Given the description of an element on the screen output the (x, y) to click on. 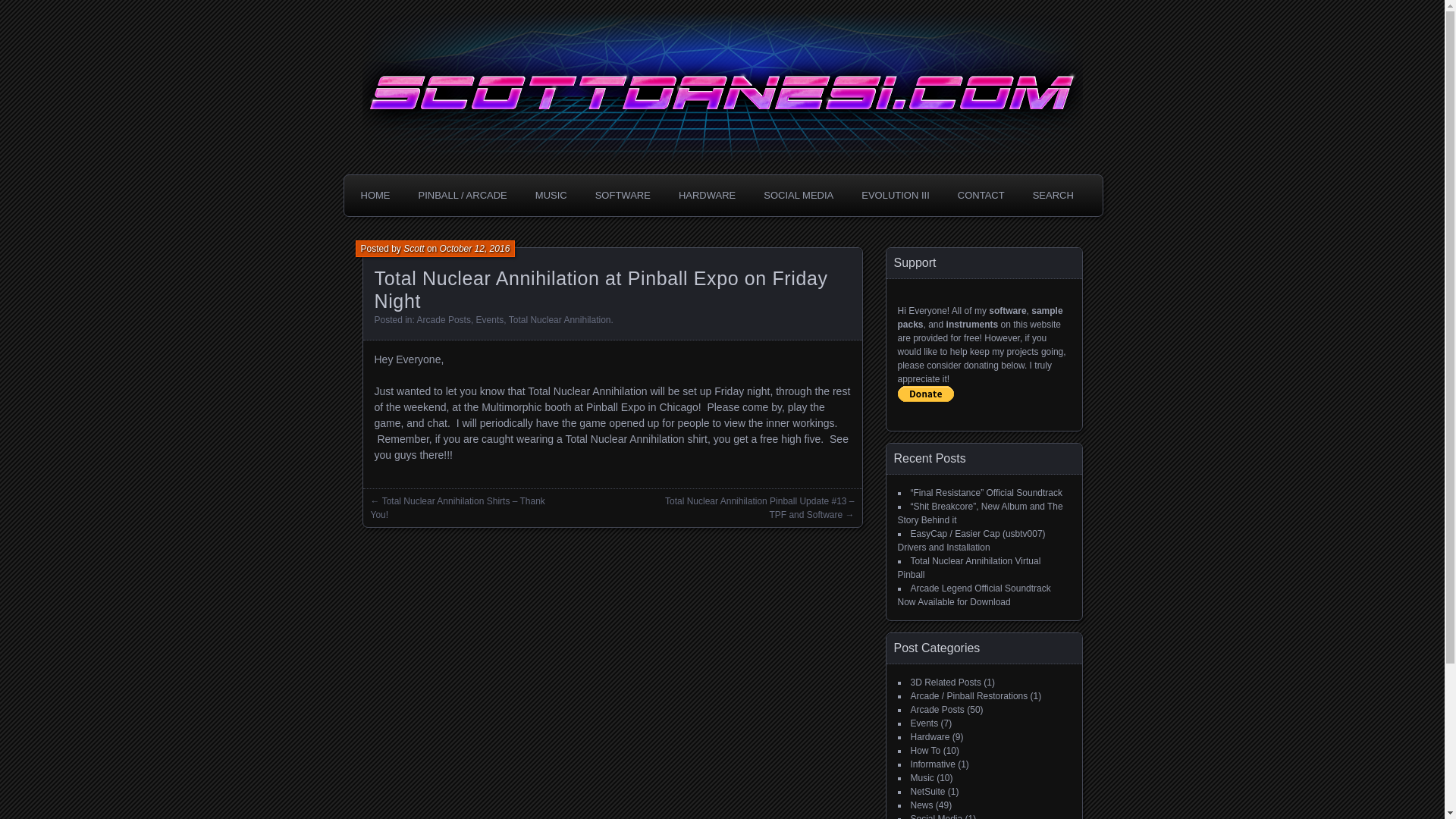
SOCIAL MEDIA (798, 195)
HARDWARE (706, 195)
Technology! (405, 20)
MUSIC (551, 195)
ScottDanesi.com (487, 44)
October 12, 2016 (475, 248)
CONTACT (981, 195)
Arcade Posts (443, 319)
EVOLUTION III (895, 195)
Events (489, 319)
